Given the description of an element on the screen output the (x, y) to click on. 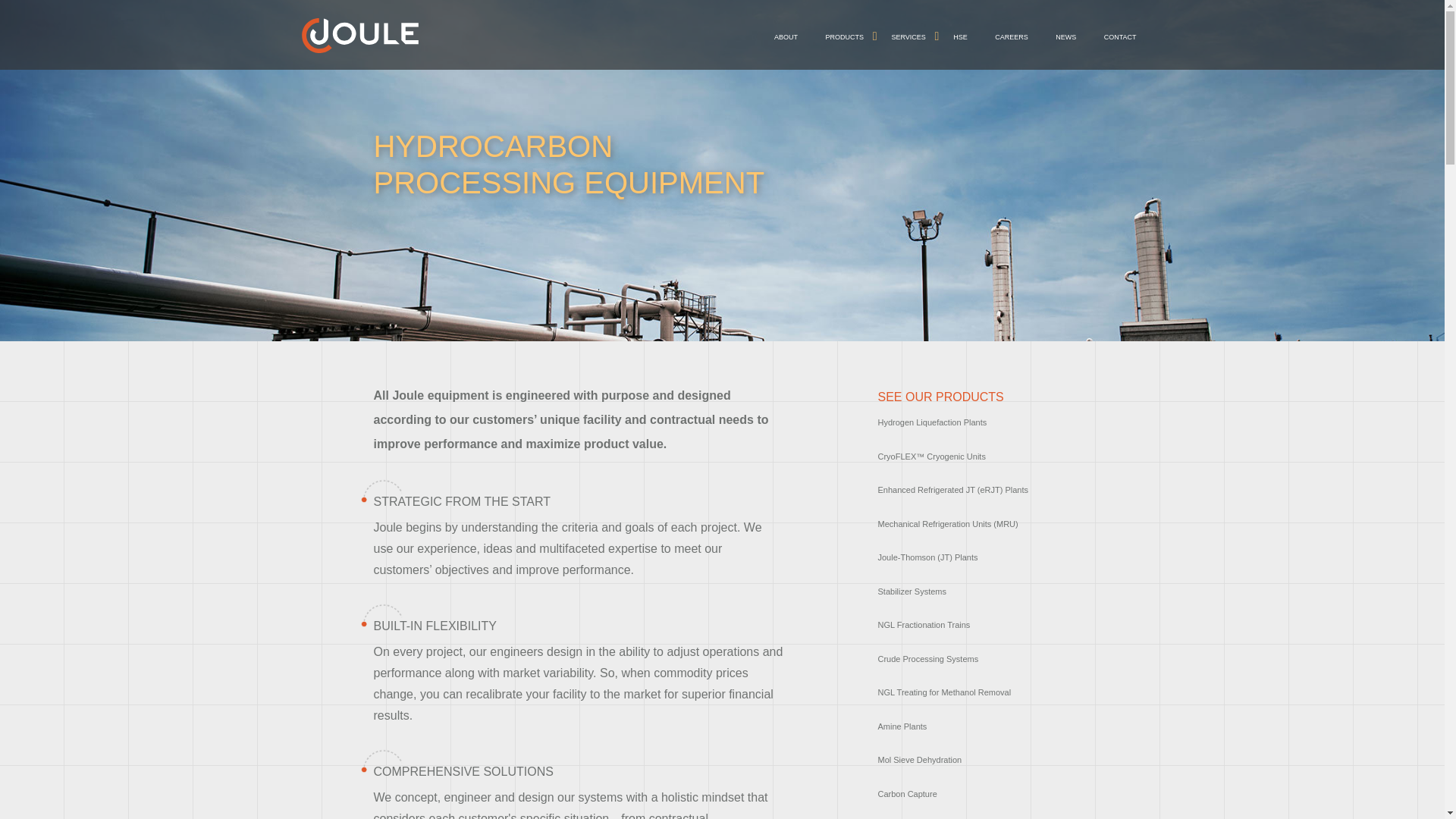
ABOUT (785, 37)
NGL Fractionation Trains (924, 624)
Mol Sieve Dehydration (919, 759)
SERVICES (908, 37)
Amine Plants (902, 726)
Carbon Capture (907, 793)
Crude Processing Systems (927, 658)
NGL Treating for Methanol Removal (944, 691)
CONTACT (1120, 37)
NEWS (1065, 37)
Stabilizer Systems (911, 591)
CAREERS (1011, 37)
HSE (959, 37)
PRODUCTS (844, 37)
Hydrogen Liquefaction Plants (932, 421)
